Given the description of an element on the screen output the (x, y) to click on. 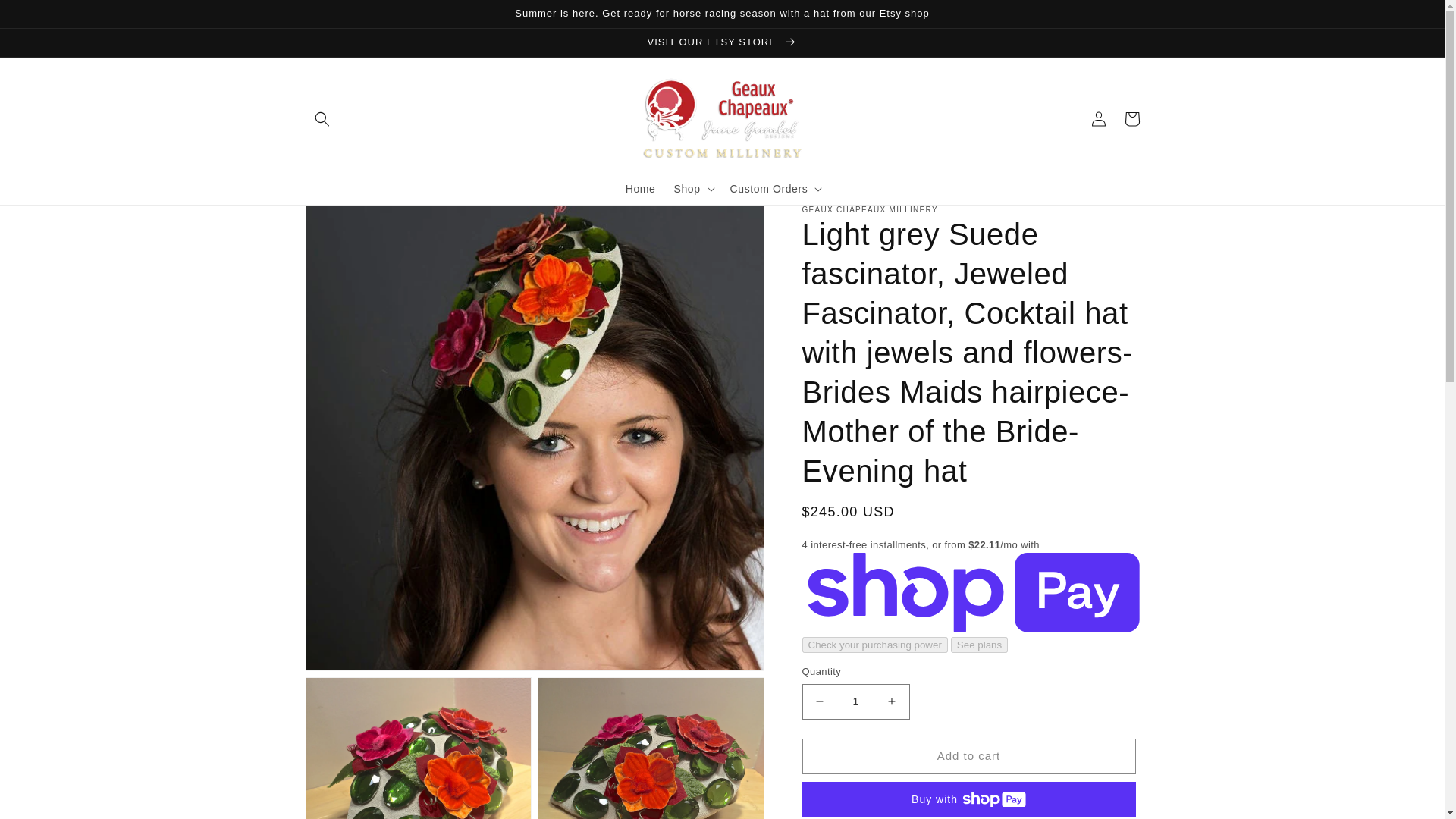
Skip to content (45, 17)
1 (856, 701)
Home (640, 188)
